Given the description of an element on the screen output the (x, y) to click on. 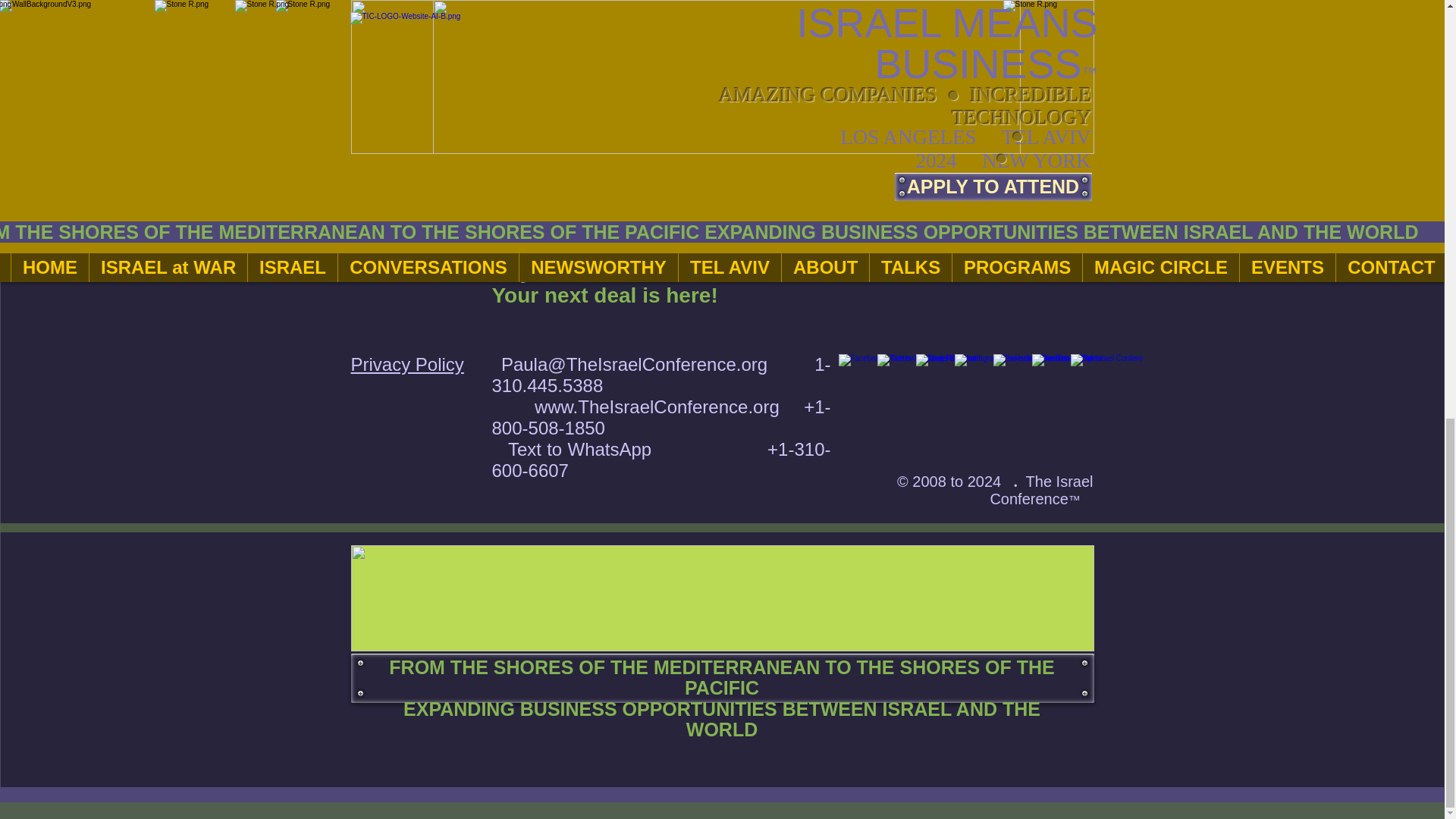
Send (974, 73)
www.TheIsraelConference.org (656, 406)
Privacy Policy (406, 363)
